Given the description of an element on the screen output the (x, y) to click on. 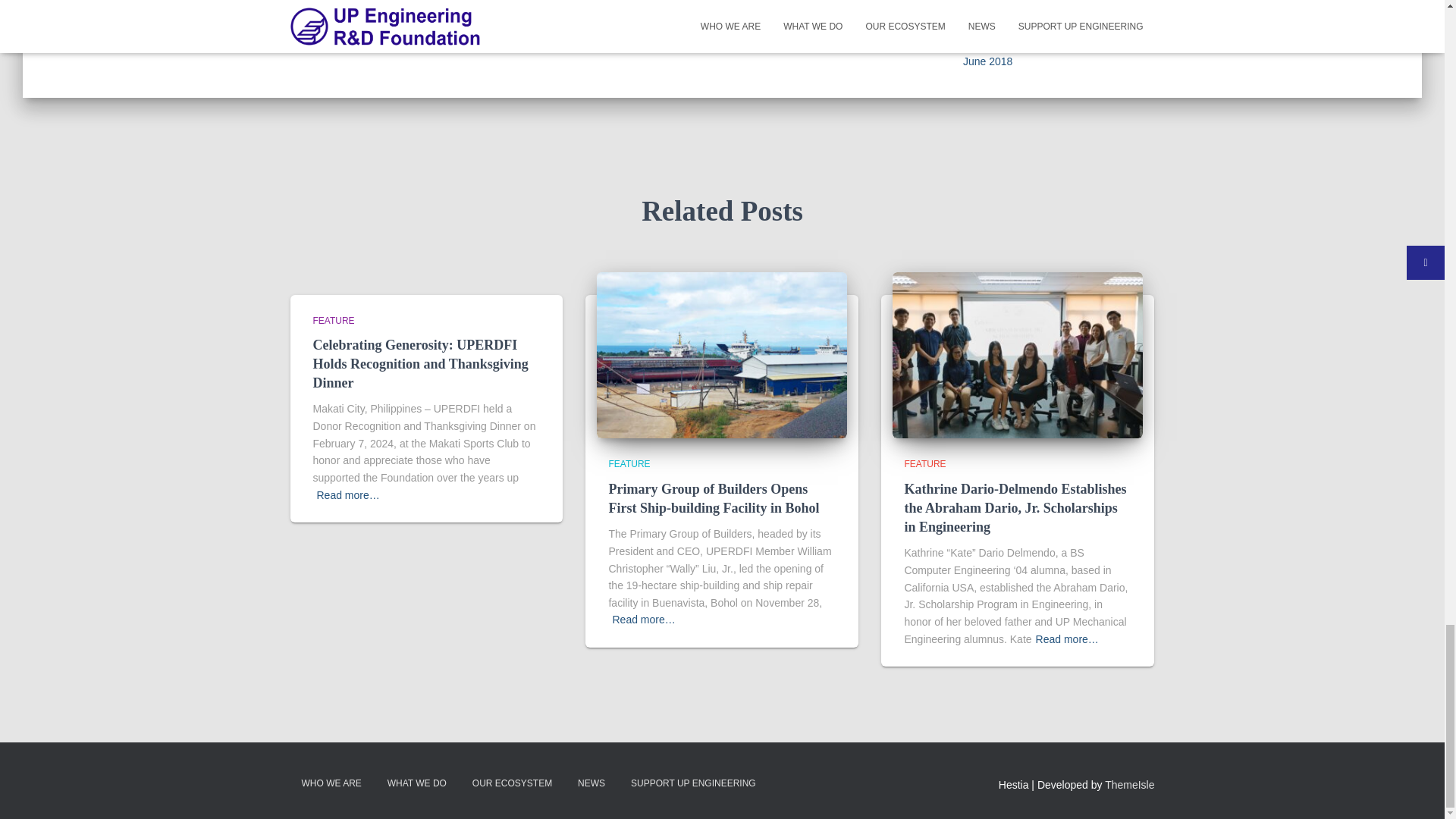
View all posts in Feature (924, 463)
View all posts in Feature (333, 319)
View all posts in Feature (628, 463)
